Given the description of an element on the screen output the (x, y) to click on. 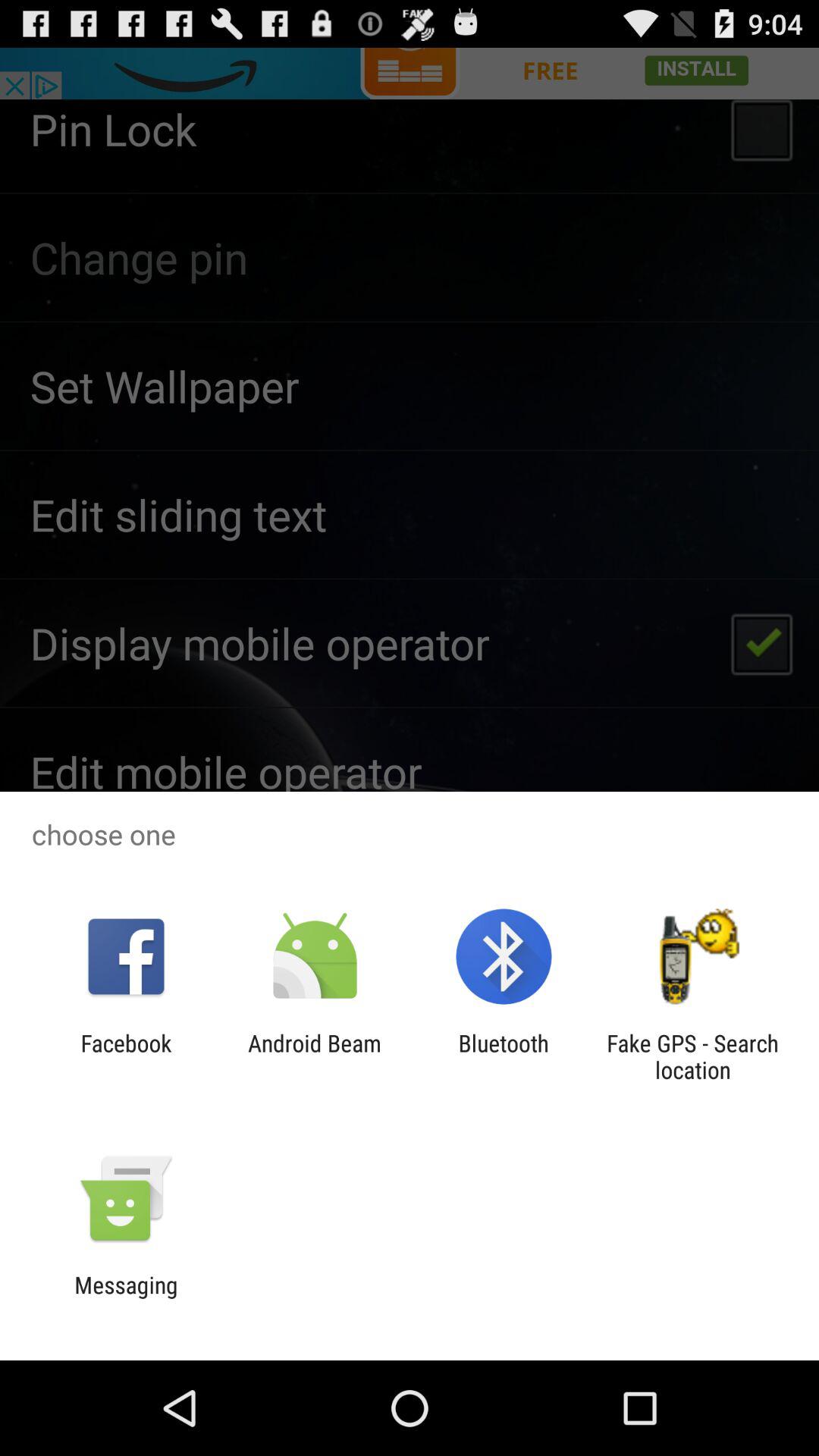
open the item next to the bluetooth (314, 1056)
